Given the description of an element on the screen output the (x, y) to click on. 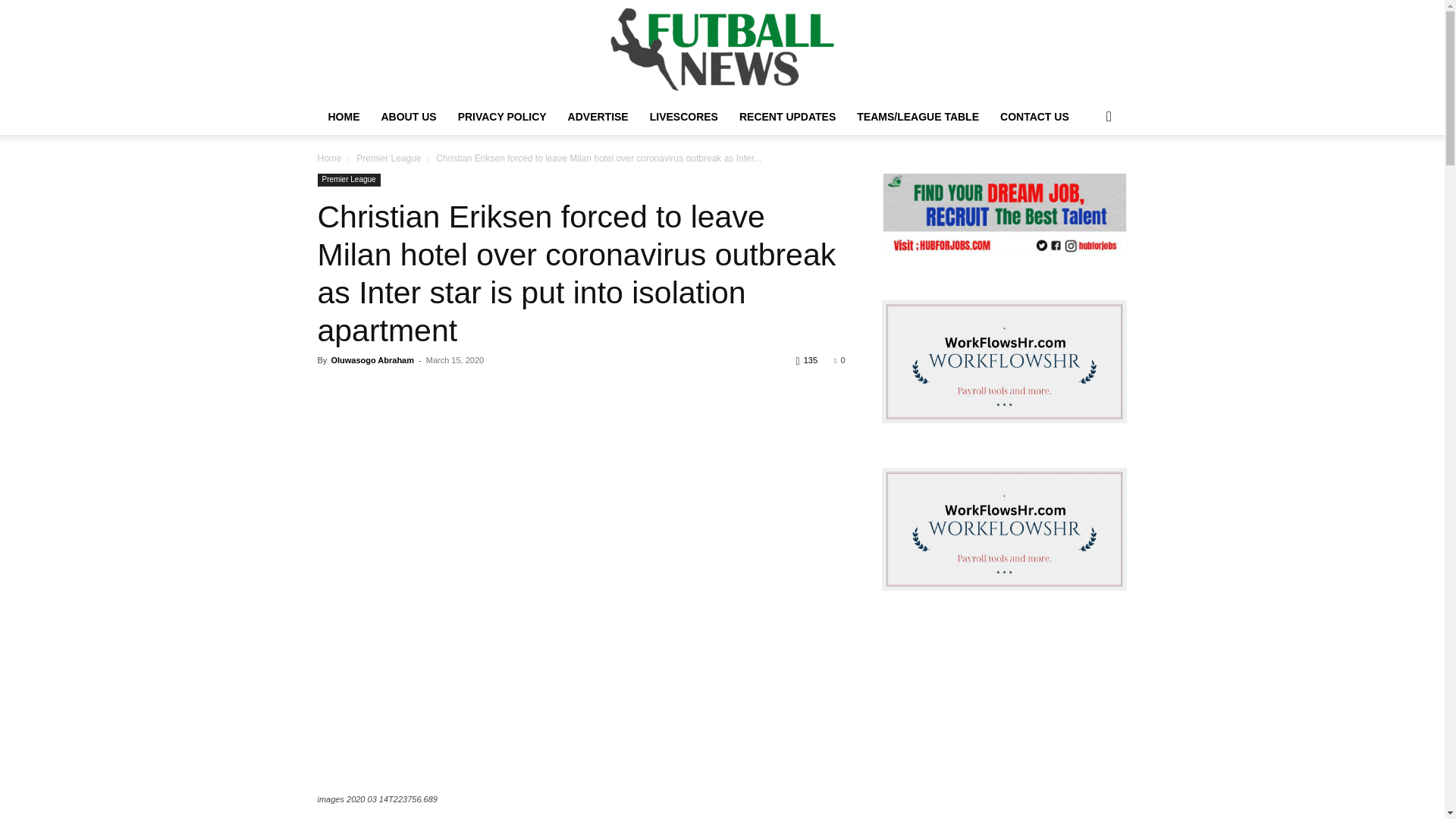
CONTACT US (1035, 116)
Home (328, 158)
ABOUT US (407, 116)
Premier League (348, 179)
View all posts in Premier League (388, 158)
Oluwasogo Abraham (371, 359)
Premier League (388, 158)
0 (839, 359)
PRIVACY POLICY (501, 116)
ADVERTISE (598, 116)
